Given the description of an element on the screen output the (x, y) to click on. 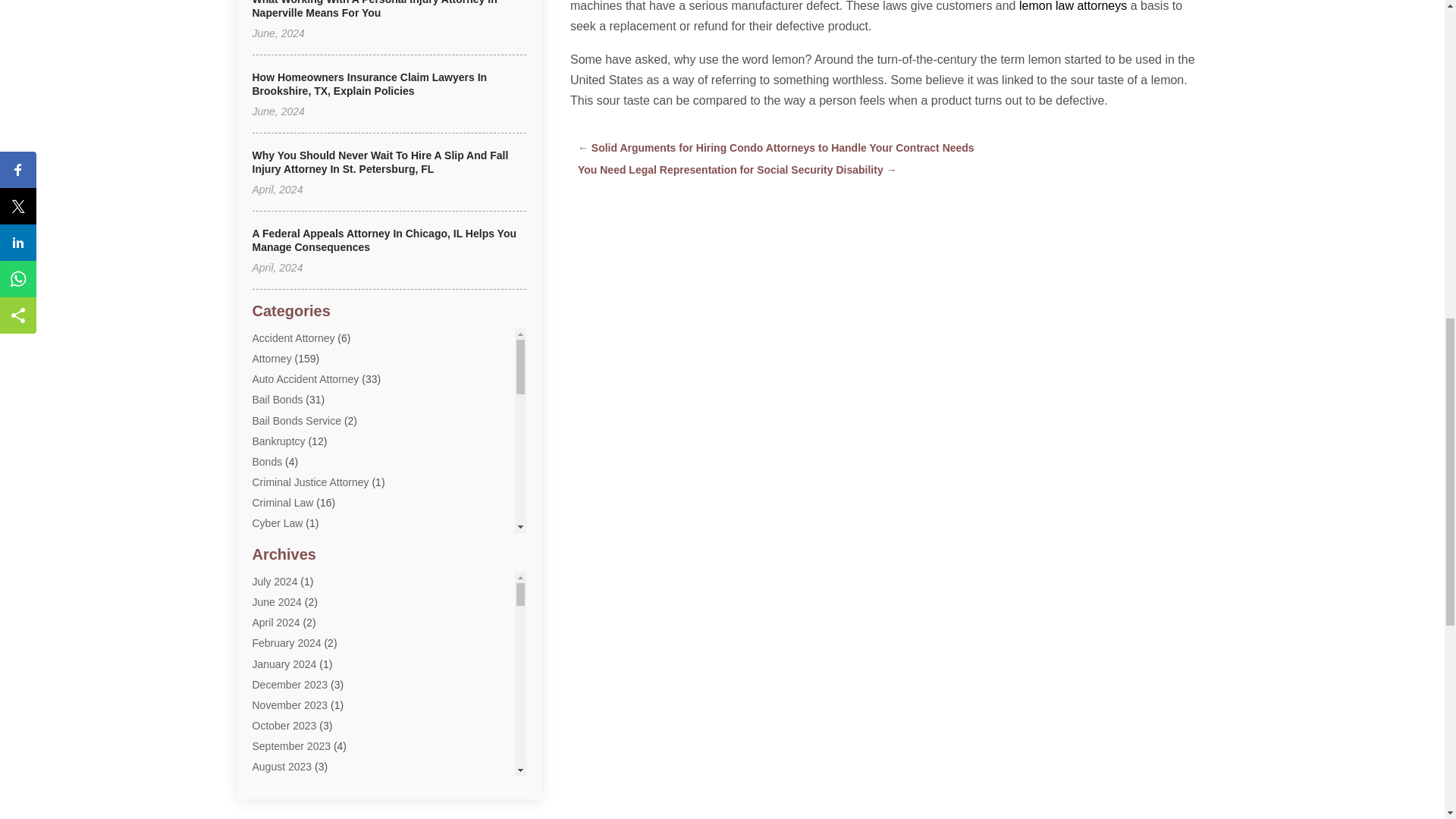
Auto Accident Attorney (304, 378)
DWI Lawyers (282, 605)
General (270, 667)
Criminal Justice Attorney (309, 481)
Bonds (266, 461)
Attorney (271, 358)
Bail Bonds Service (295, 420)
Employment Law (292, 625)
Bail Bonds (276, 399)
Divorce Service (288, 564)
Family Law (278, 647)
Dui Law Attorneys (294, 585)
Bankruptcy (277, 440)
